Given the description of an element on the screen output the (x, y) to click on. 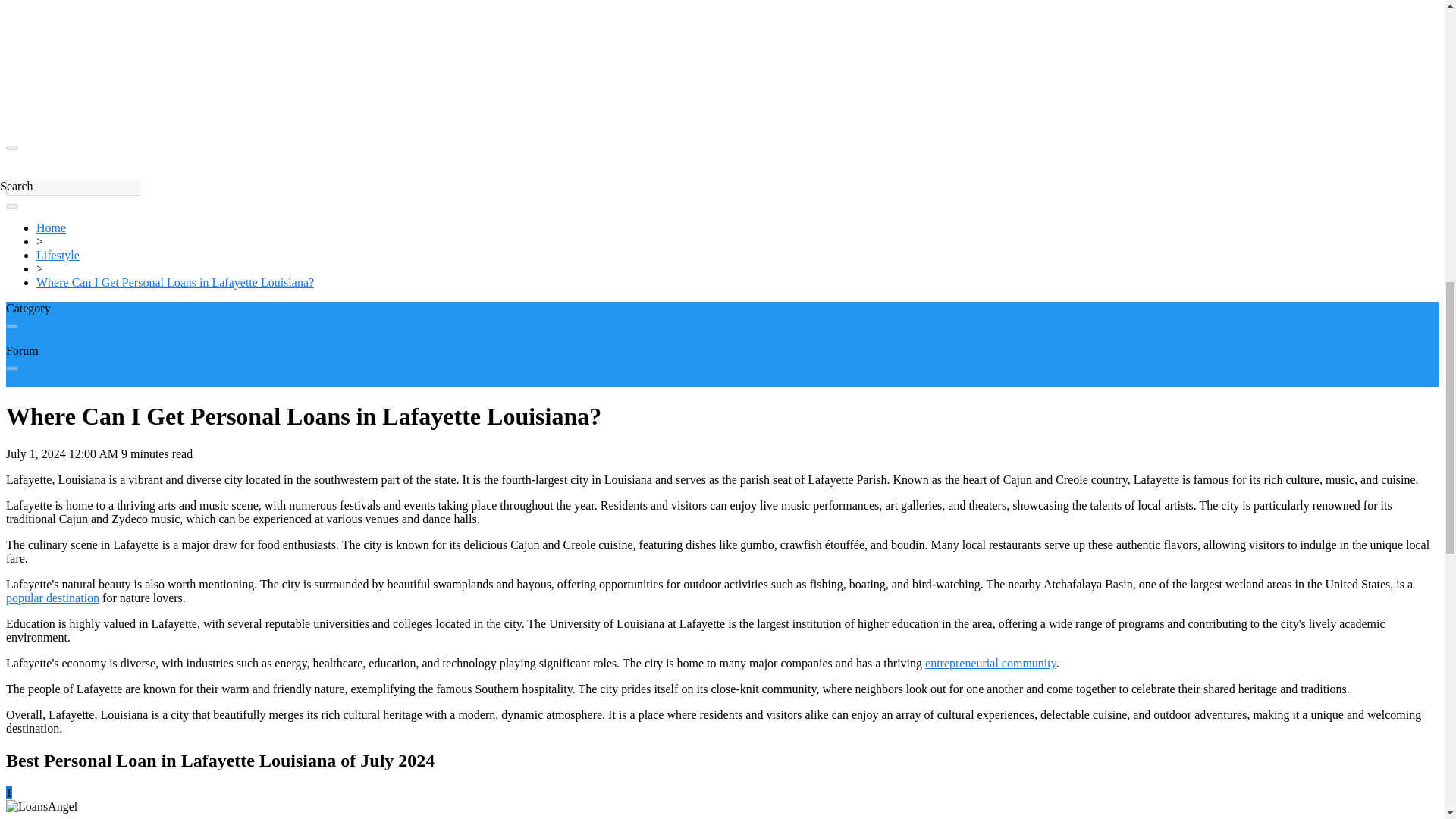
Where Can I Get Personal Loans in Lafayette Louisiana? (175, 282)
Home (50, 227)
popular destination (52, 597)
Lifestyle (58, 254)
entrepreneurial community (990, 662)
